Given the description of an element on the screen output the (x, y) to click on. 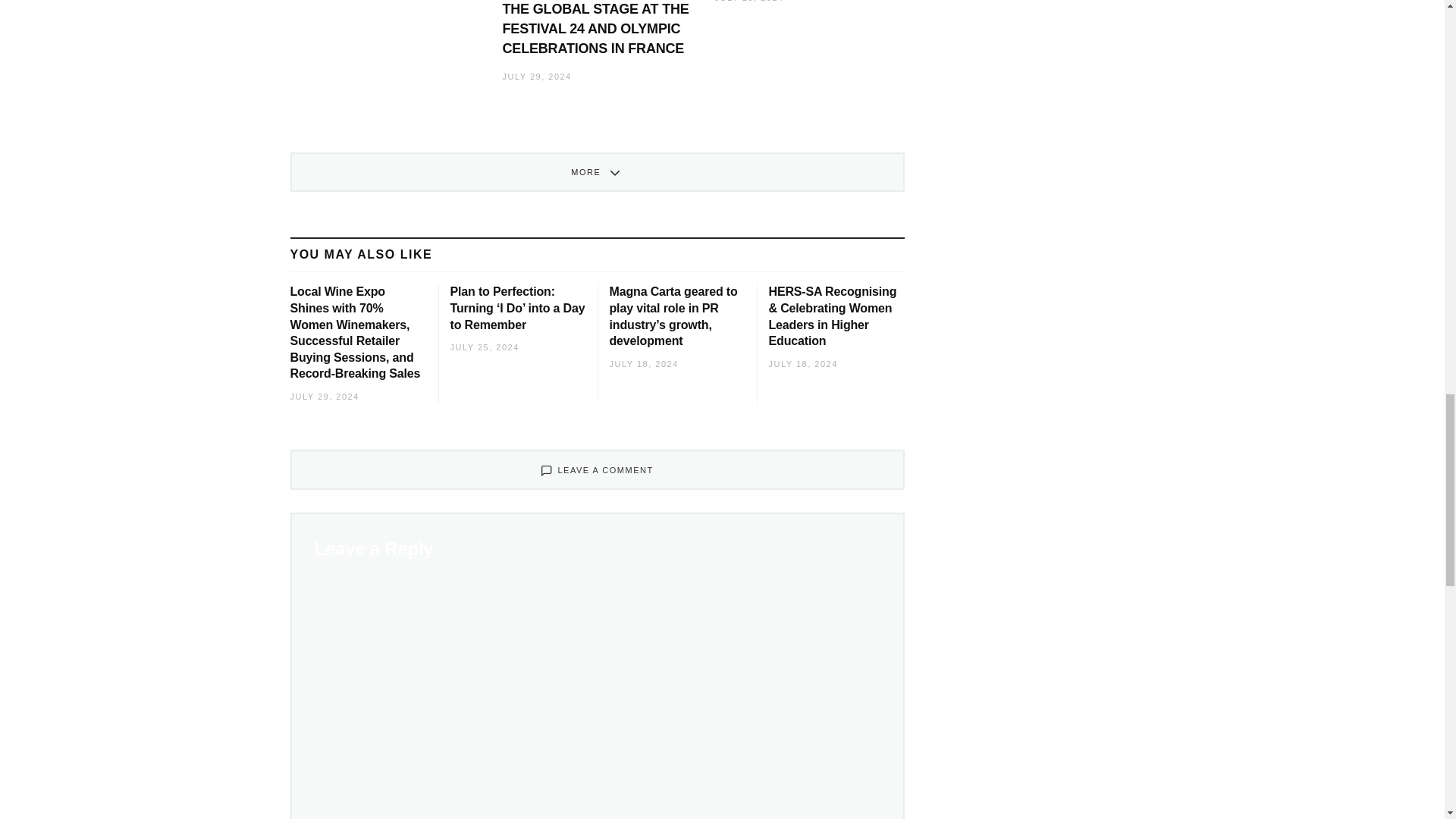
LEAVE A COMMENT (596, 469)
MORE (596, 171)
